Given the description of an element on the screen output the (x, y) to click on. 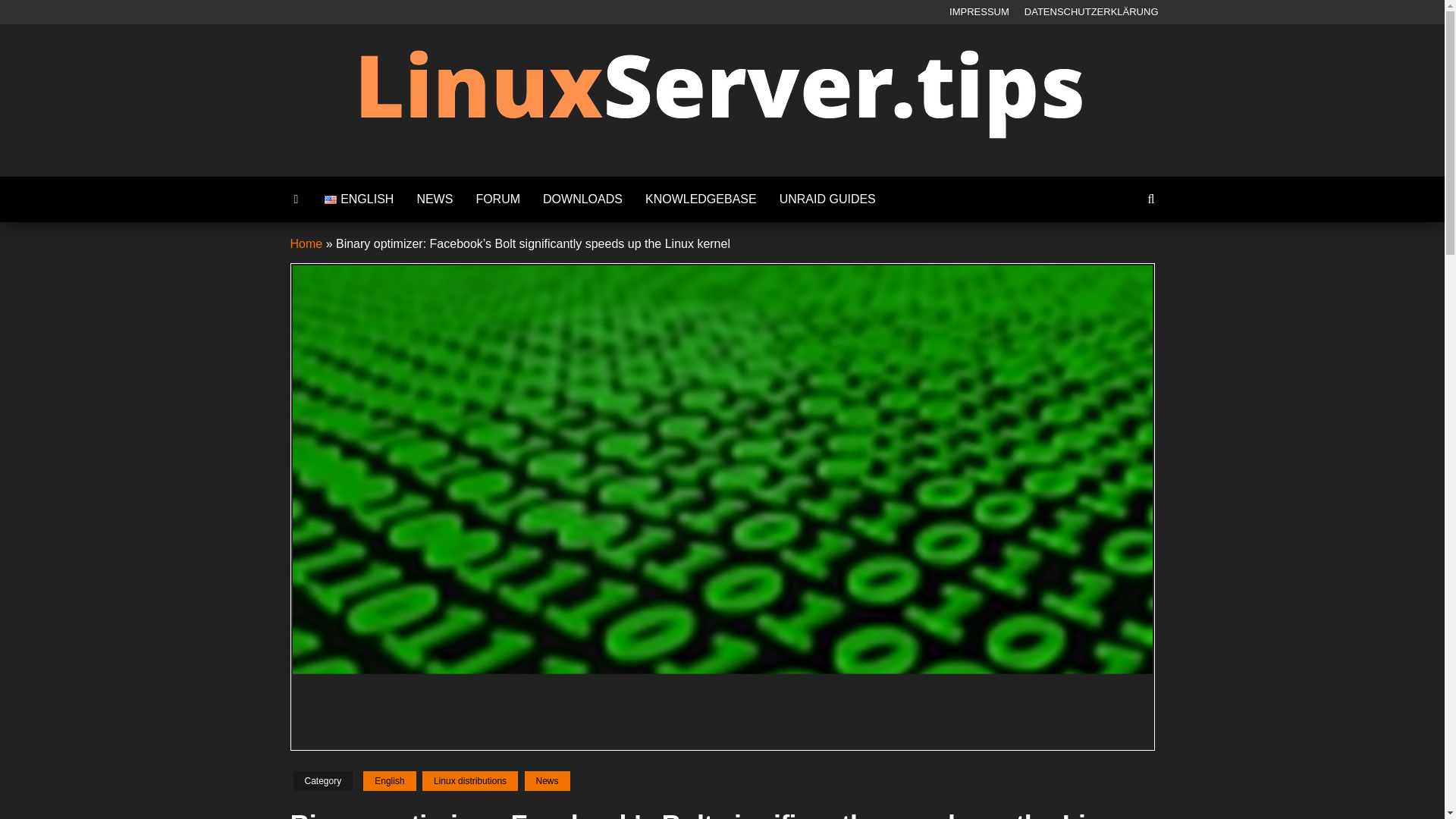
English (388, 781)
ENGLISH (358, 198)
IMPRESSUM (979, 12)
KNOWLEDGEBASE (700, 198)
DOWNLOADS (582, 198)
Home (305, 243)
NEWS (434, 198)
News (434, 198)
Downloads (582, 198)
English (358, 198)
LinuxServer (767, 167)
FORUM (497, 198)
Linux distributions (470, 781)
Forum (497, 198)
Knowledgebase (700, 198)
